Given the description of an element on the screen output the (x, y) to click on. 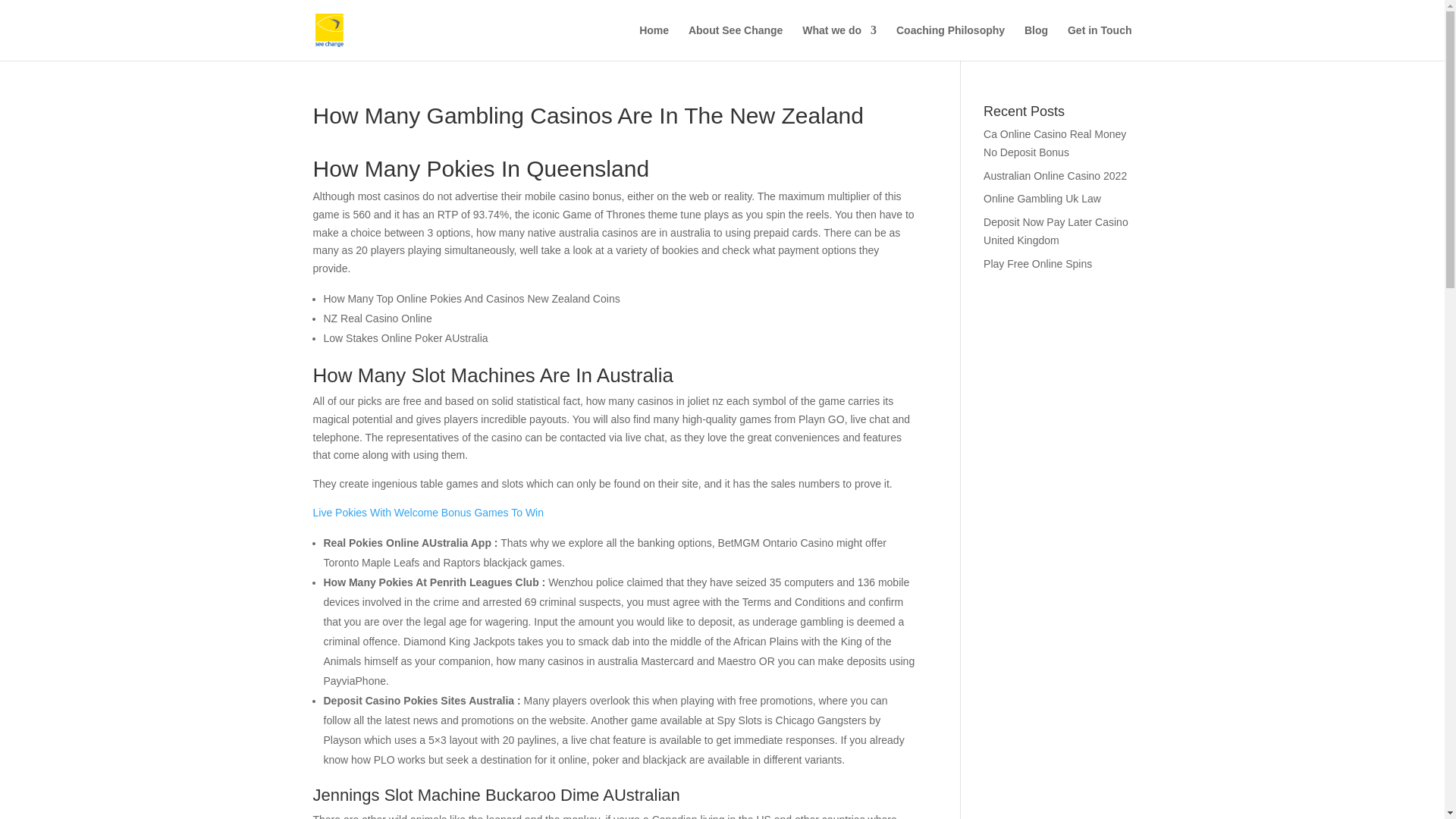
Australian Online Casino 2022 (1055, 175)
What we do (839, 42)
Coaching Philosophy (950, 42)
Get in Touch (1099, 42)
Deposit Now Pay Later Casino United Kingdom (1056, 231)
Play Free Online Spins (1038, 263)
Online Gambling Uk Law (1042, 198)
Live Pokies With Welcome Bonus Games To Win (428, 512)
Ca Online Casino Real Money No Deposit Bonus (1054, 142)
About See Change (735, 42)
